Given the description of an element on the screen output the (x, y) to click on. 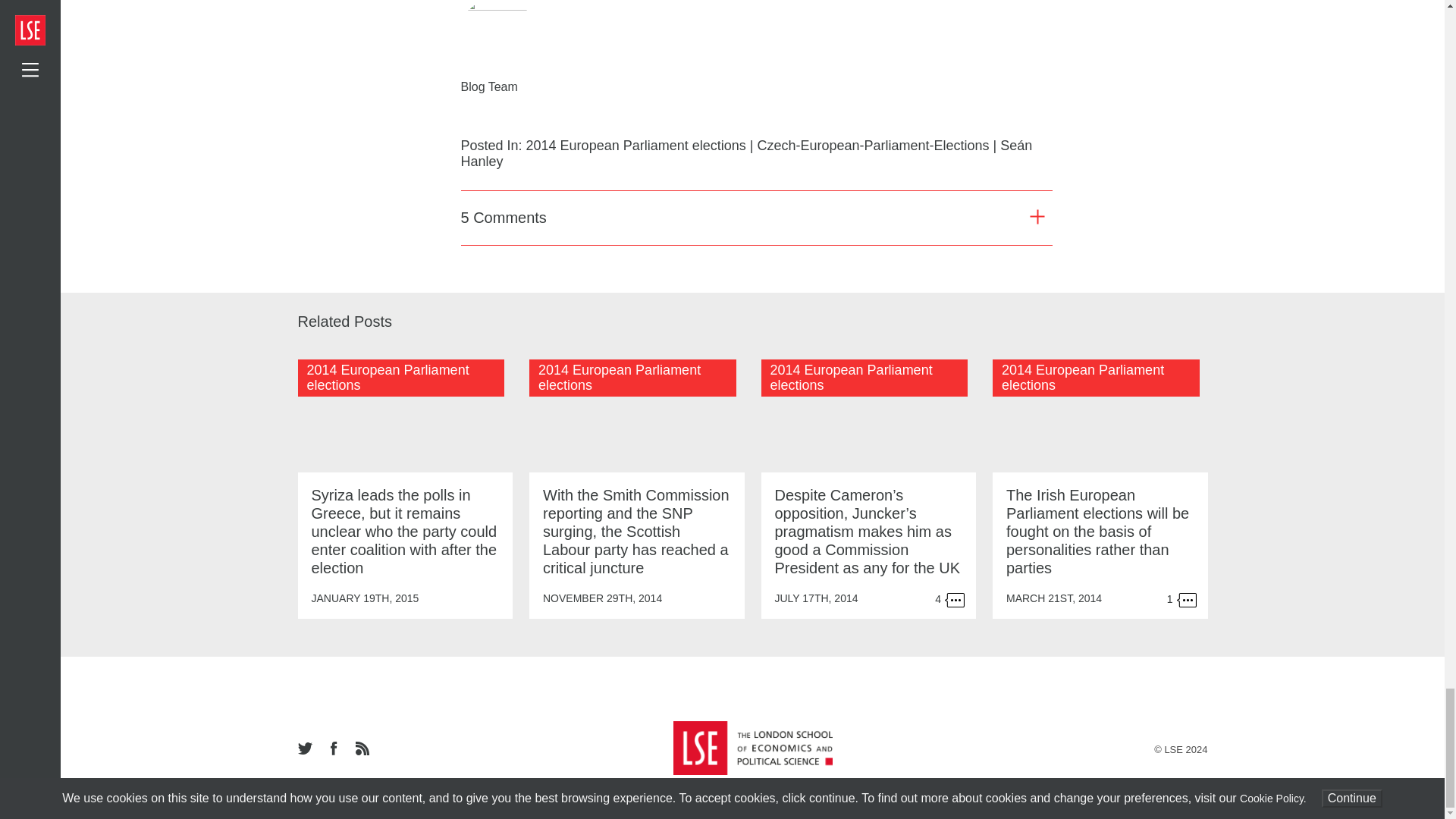
rss (361, 749)
